Given the description of an element on the screen output the (x, y) to click on. 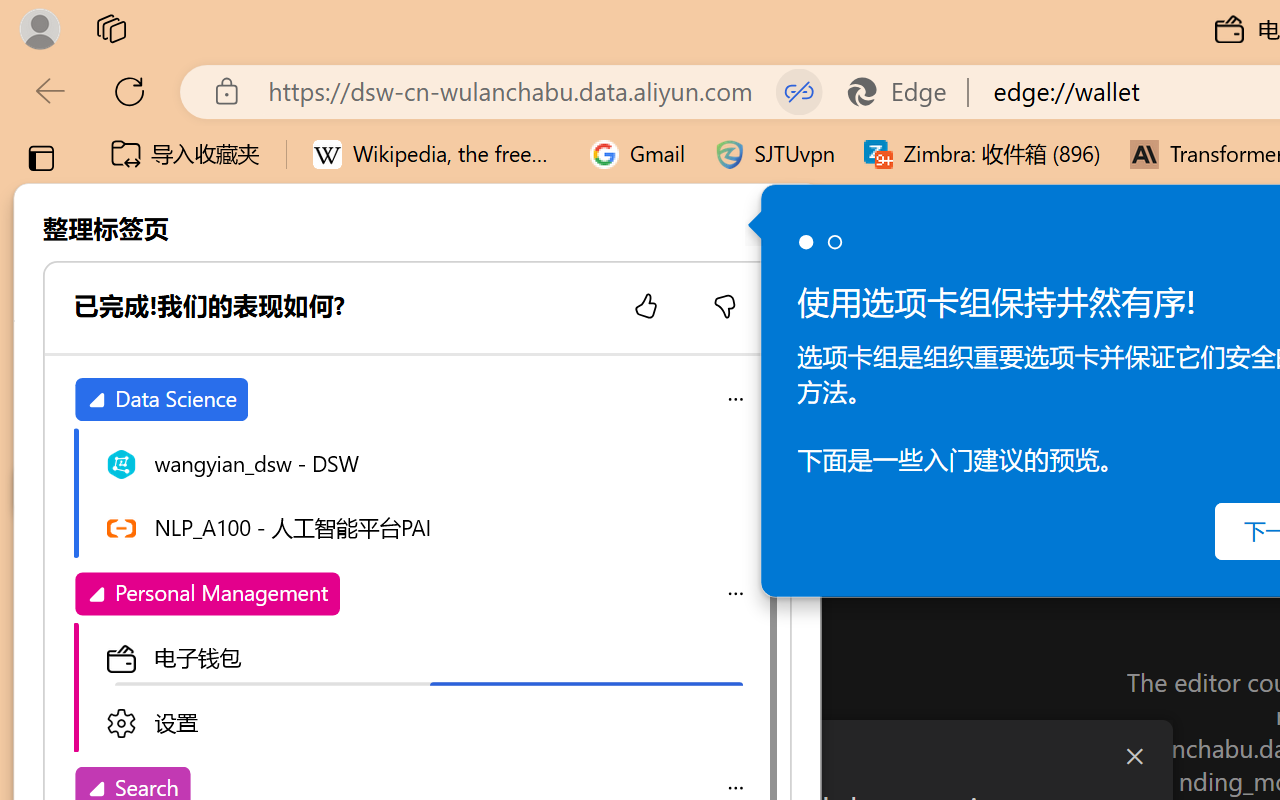
Explorer Section: wangyian (331, 409)
Gmail (637, 154)
Close Dialog (1133, 756)
Microsoft security help and learning (42, 681)
Application Menu (135, 358)
Explorer actions (391, 358)
Edge (905, 91)
Source Control (Ctrl+Shift+G) (135, 604)
Views and More Actions... (442, 357)
